Given the description of an element on the screen output the (x, y) to click on. 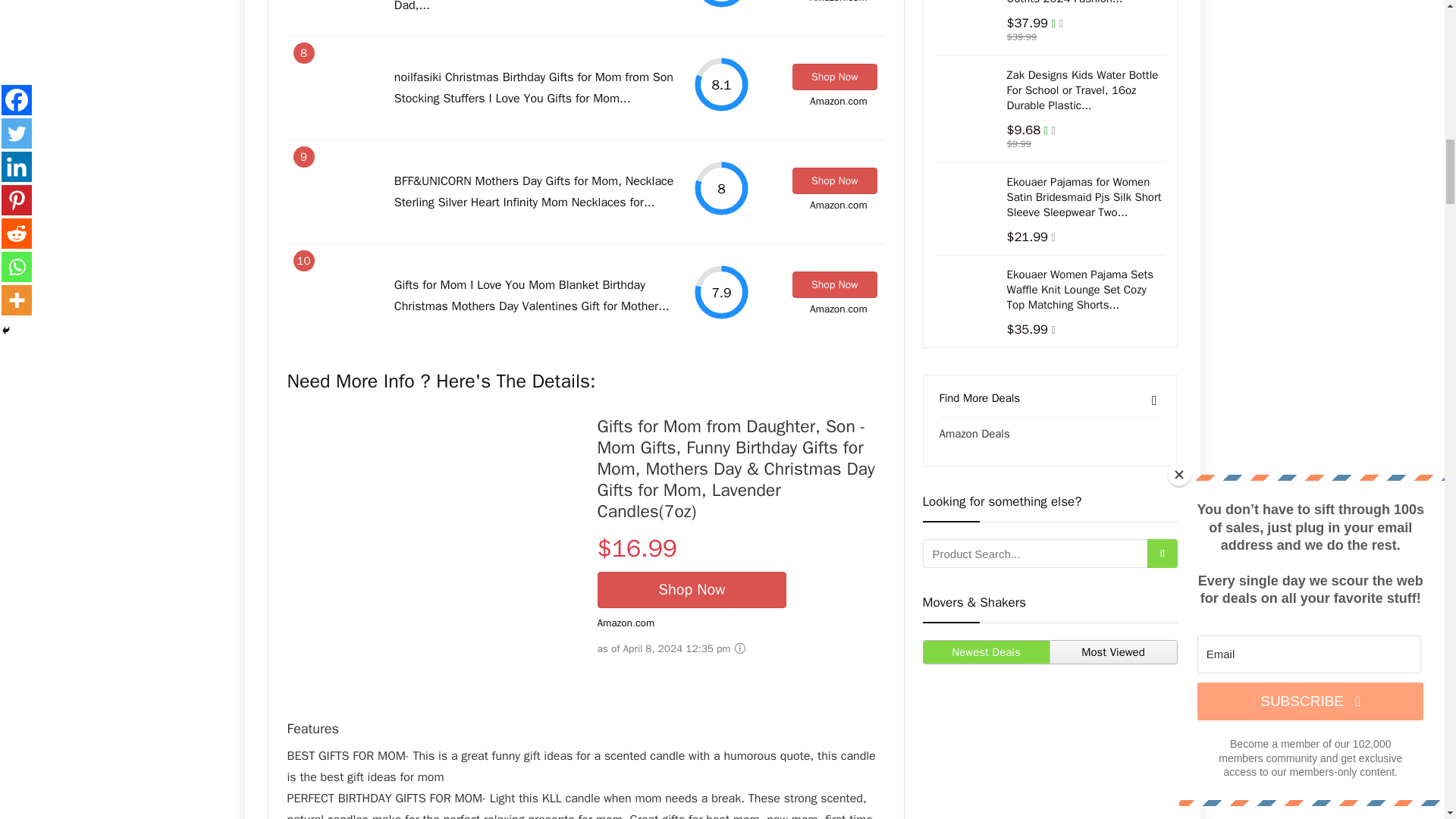
8 (721, 188)
8.1 (721, 84)
8.3 (721, 4)
7.9 (721, 292)
